Given the description of an element on the screen output the (x, y) to click on. 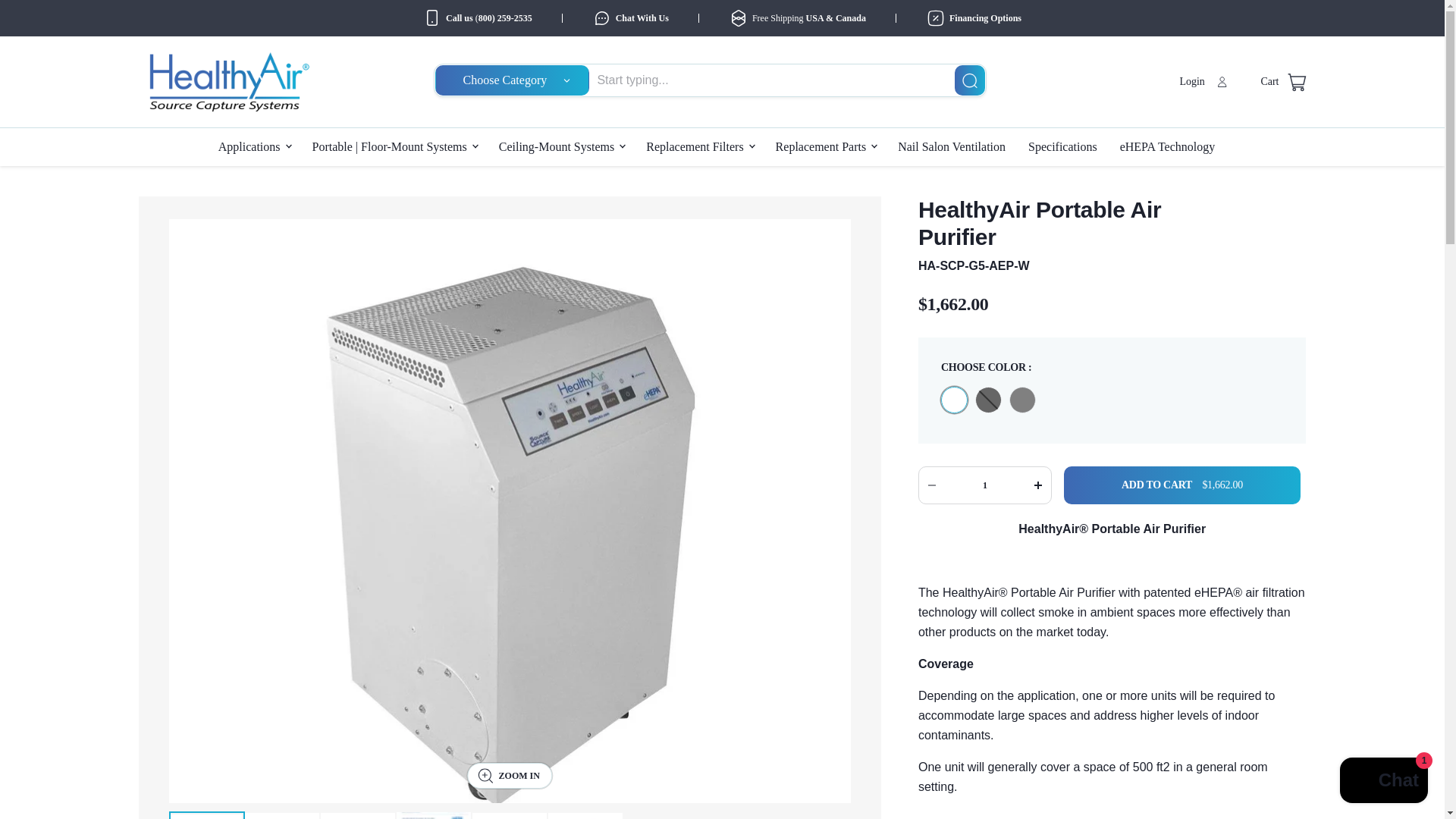
Shopify online store chat (1383, 781)
Login (1283, 81)
tel:800-259-2535 (1202, 81)
1 (505, 18)
